Given the description of an element on the screen output the (x, y) to click on. 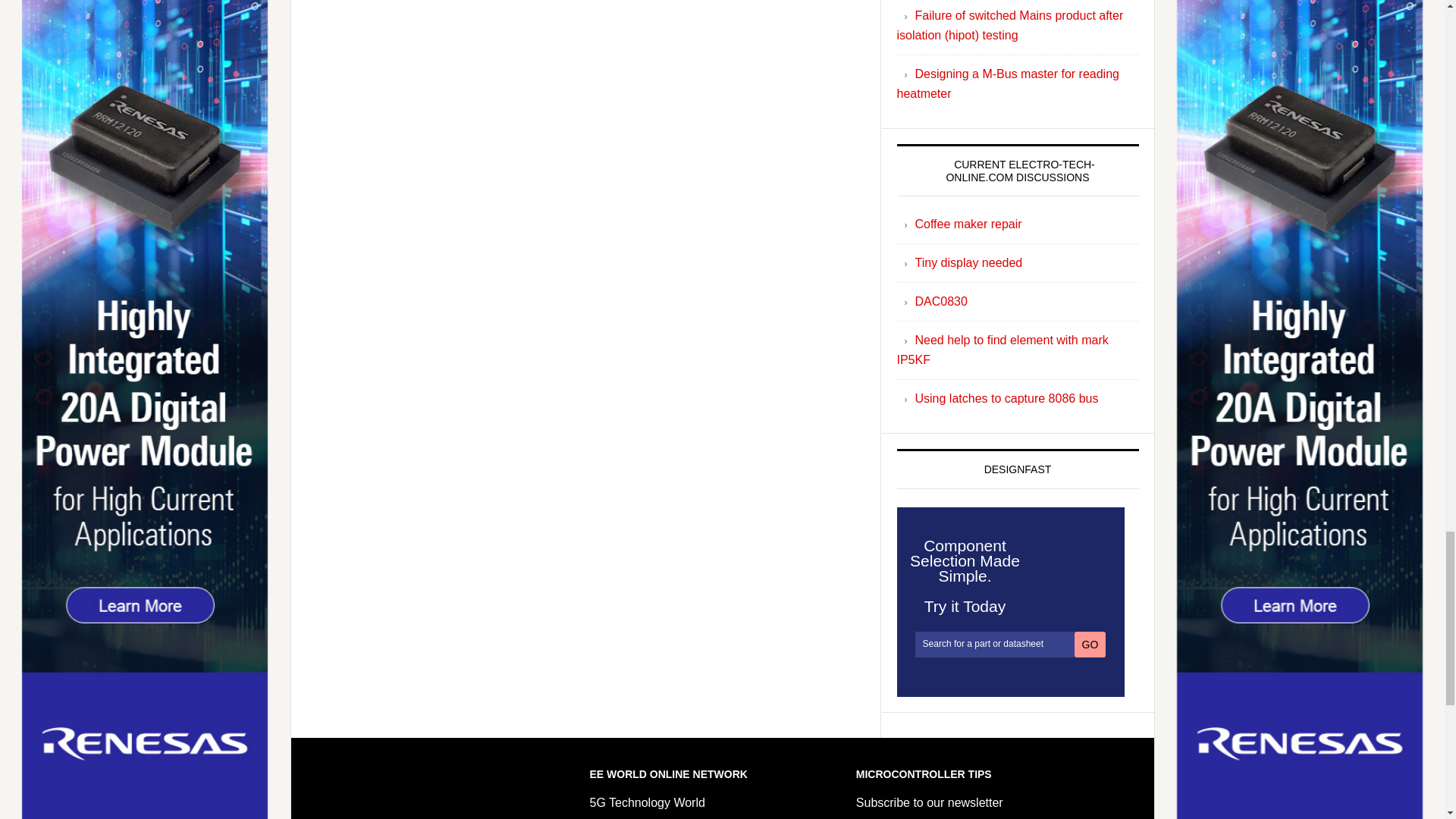
GO (1090, 644)
